Given the description of an element on the screen output the (x, y) to click on. 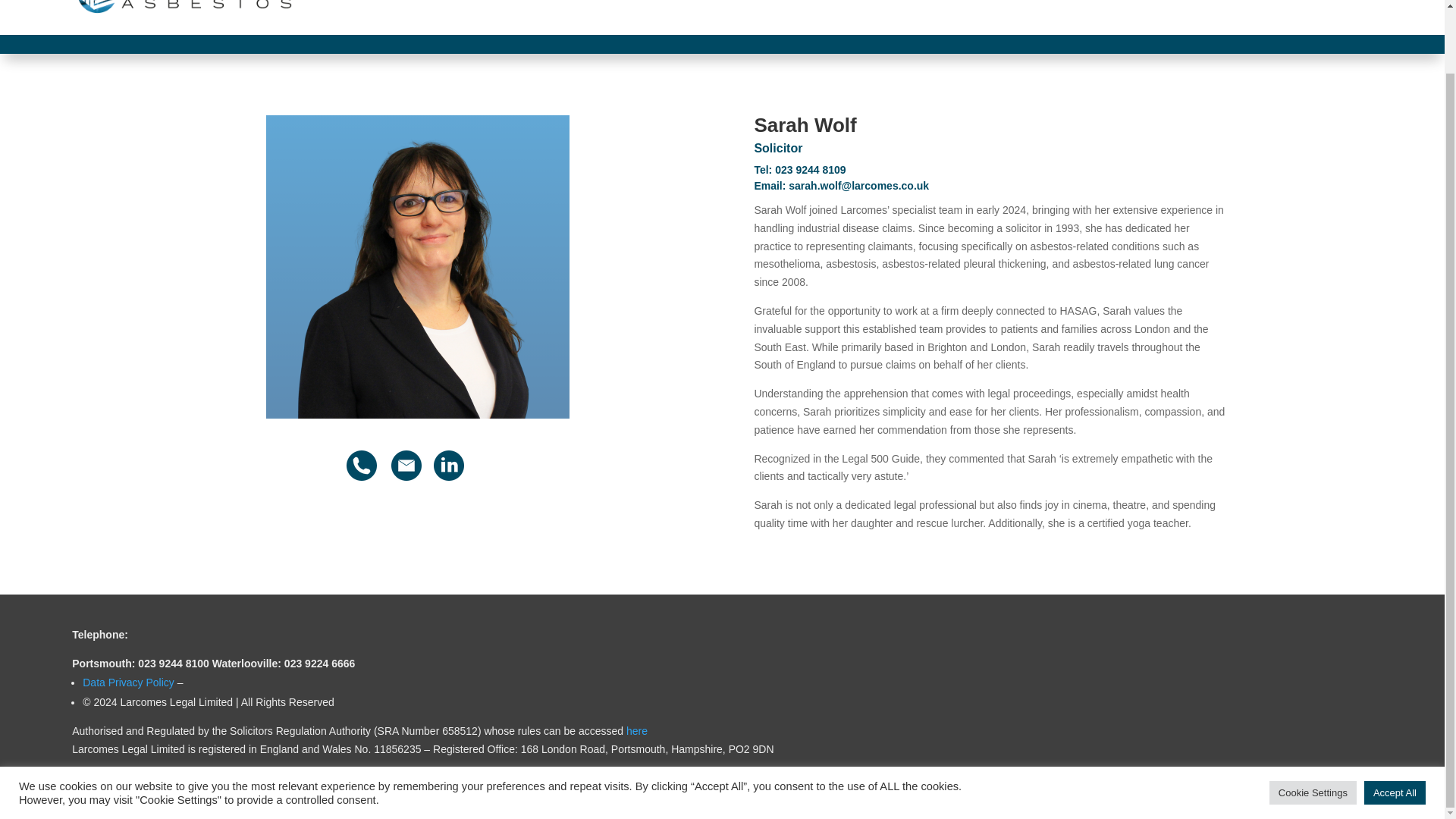
About Us (699, 11)
Benefits (1084, 11)
Contact Us (1345, 11)
FAQs (1289, 11)
Outreach Work (1012, 11)
Our Team (768, 11)
Sarah Wolf 1 (417, 266)
Blog (1249, 11)
Lump Sum Payments (1172, 11)
